Given the description of an element on the screen output the (x, y) to click on. 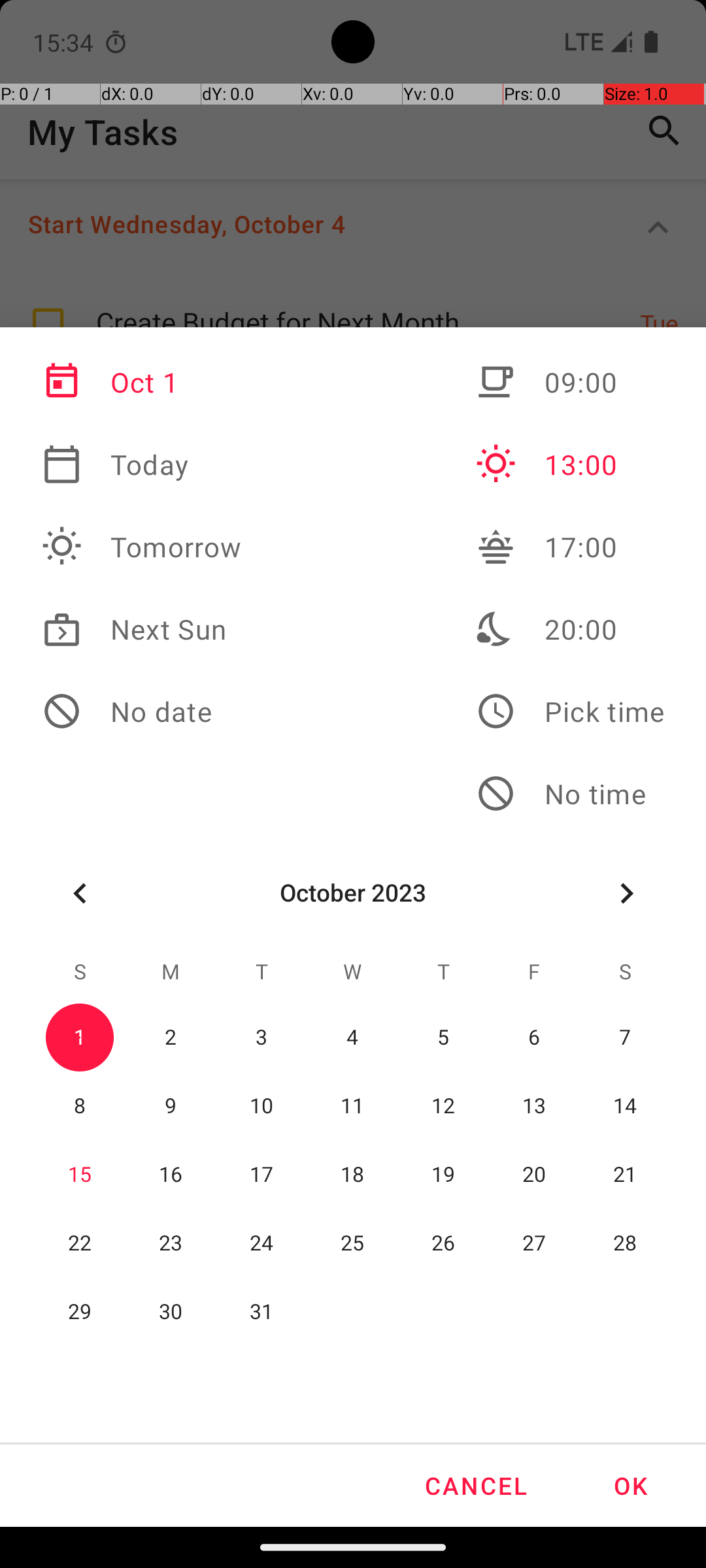
Oct 1 Element type: android.widget.CompoundButton (141, 382)
